Given the description of an element on the screen output the (x, y) to click on. 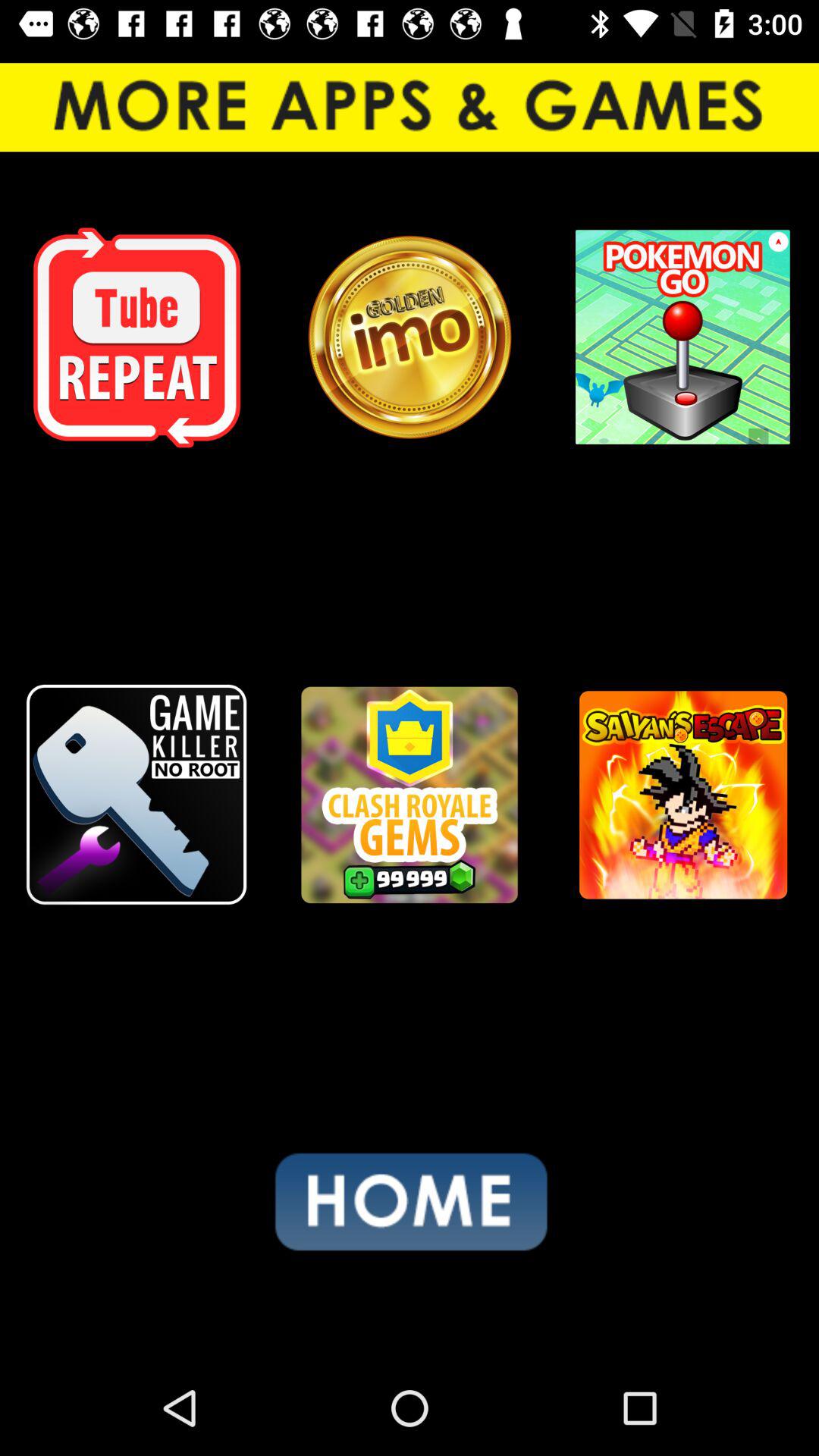
download tuberepeat app (136, 337)
